Given the description of an element on the screen output the (x, y) to click on. 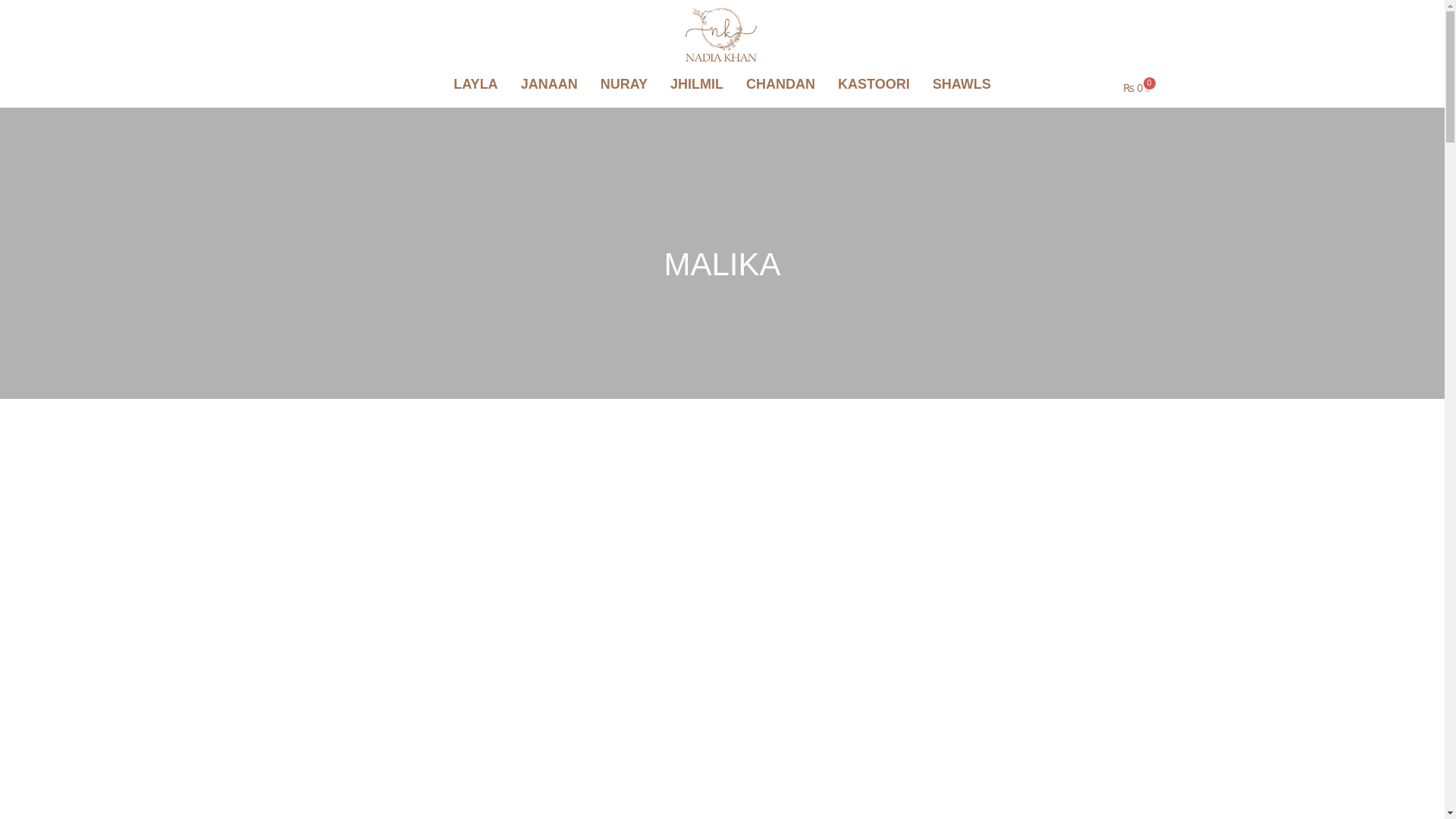
JANAAN (549, 84)
CHANDAN (781, 84)
JHILMIL (697, 84)
SHAWLS (962, 84)
LAYLA (475, 84)
KASTOORI (874, 84)
NURAY (624, 84)
